Given the description of an element on the screen output the (x, y) to click on. 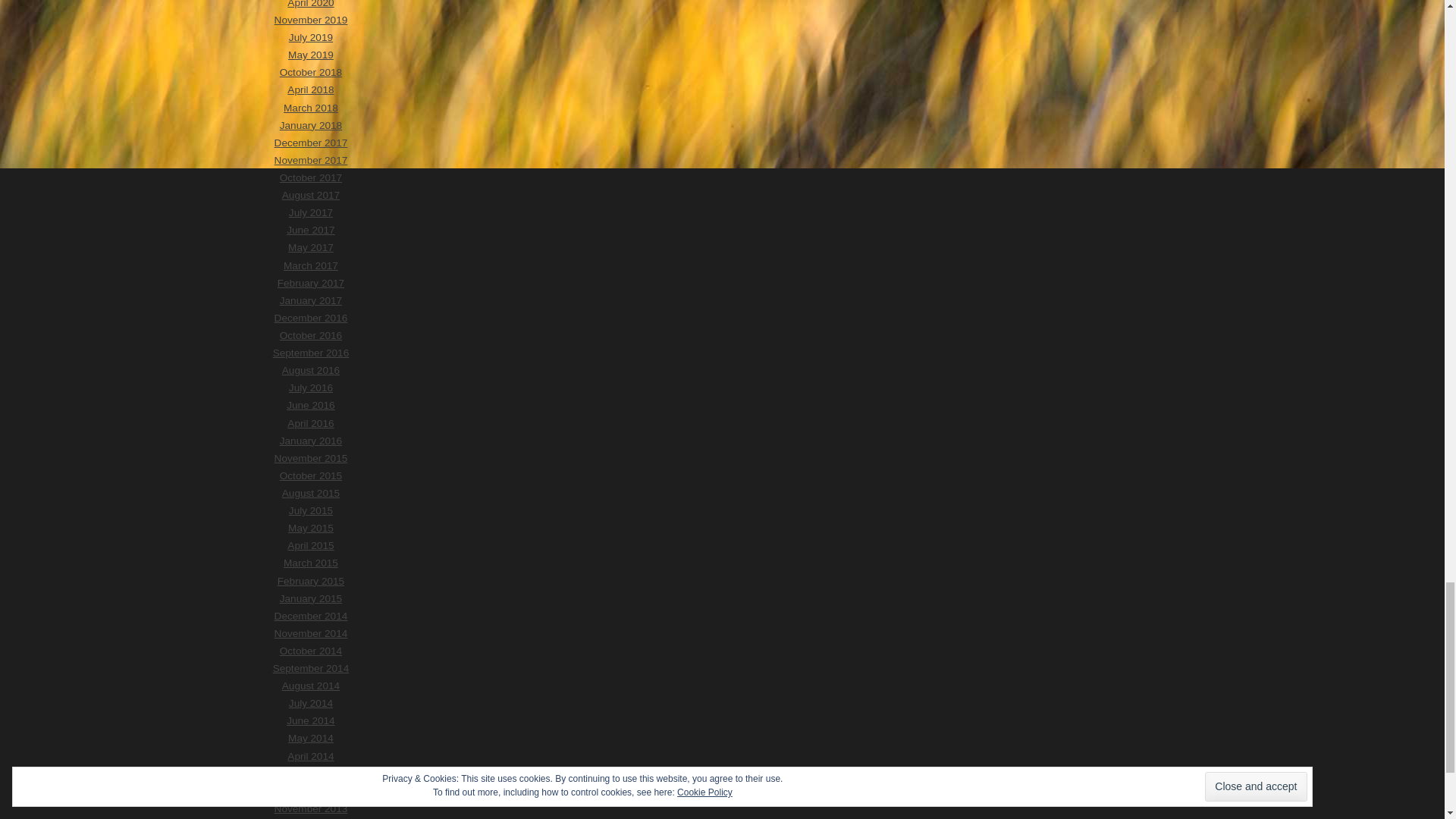
May 2019 (310, 54)
July 2019 (310, 37)
November 2019 (311, 19)
April 2020 (309, 4)
